Given the description of an element on the screen output the (x, y) to click on. 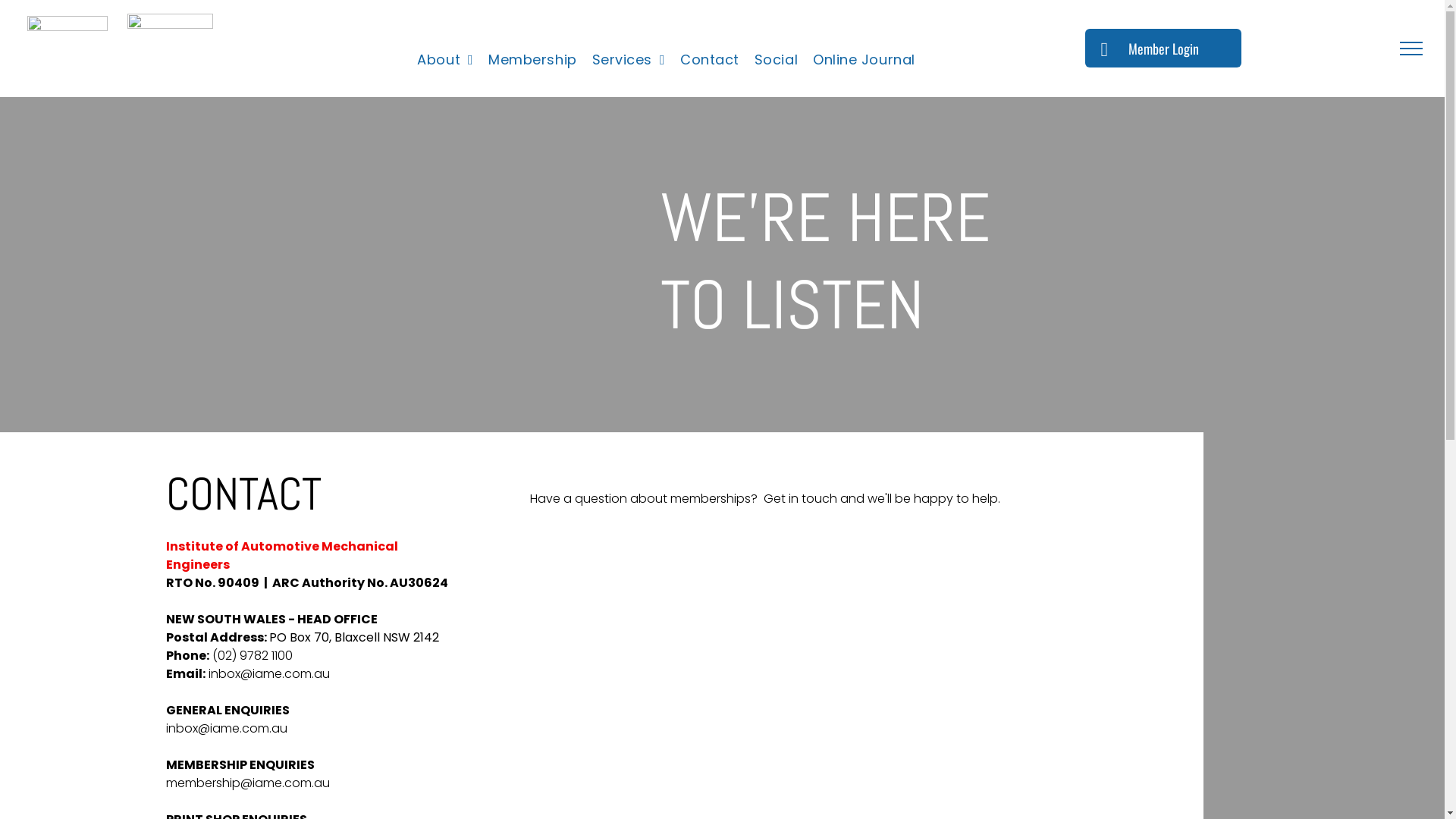
Online Journal Element type: text (863, 59)
Member Login Element type: text (1163, 47)
Services Element type: text (628, 59)
Membership Element type: text (531, 59)
About Element type: text (444, 59)
Send Element type: text (502, 760)
Contact Element type: text (709, 59)
Social Element type: text (775, 59)
